Given the description of an element on the screen output the (x, y) to click on. 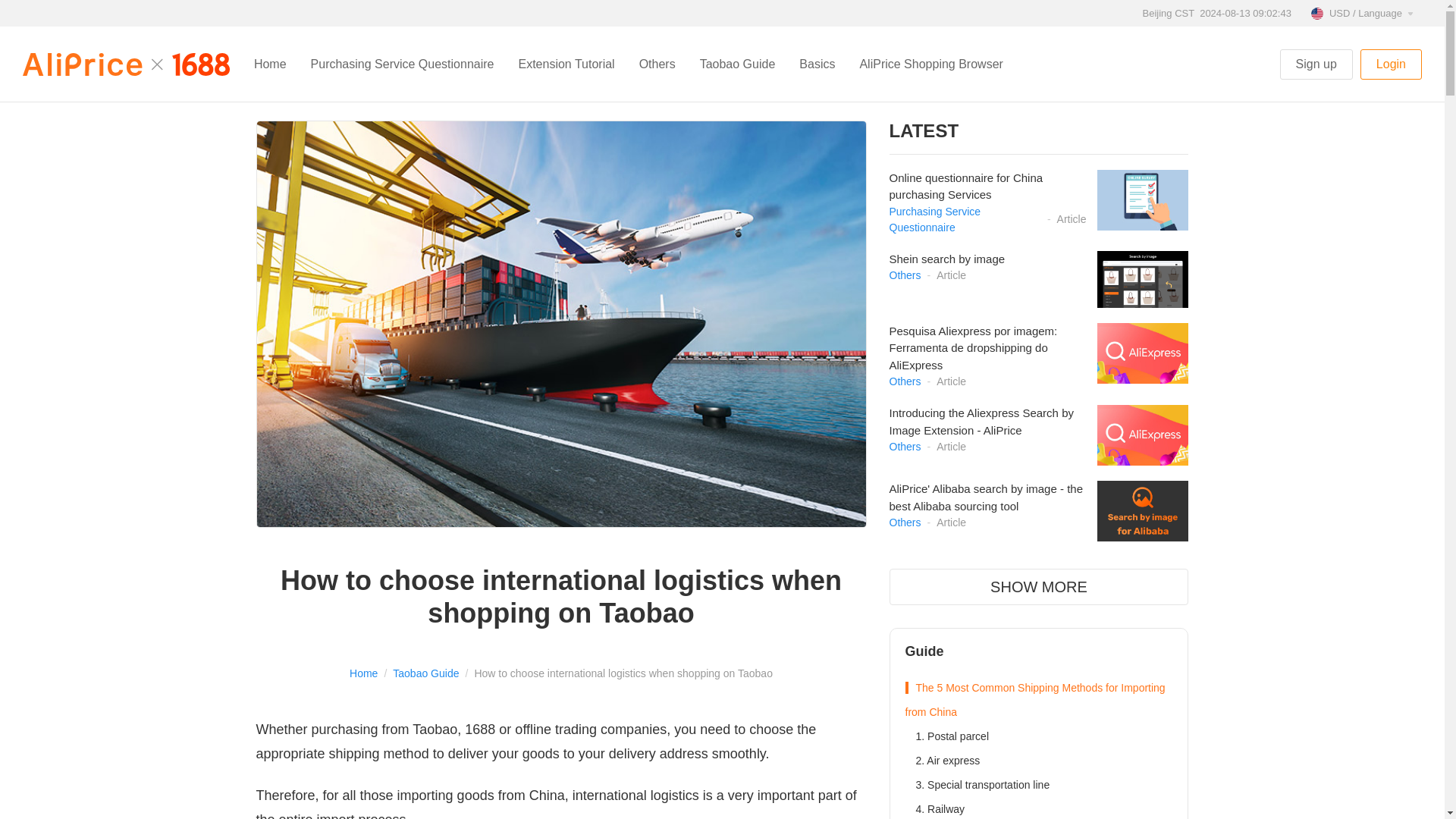
Sign up (1315, 64)
Taobao Guide (425, 673)
Taobao Guide (737, 64)
Extension Tutorial (565, 64)
Home (363, 673)
Home (269, 64)
Basics (817, 64)
Login (1390, 64)
Others (657, 64)
Purchasing Service Questionnaire (402, 64)
